Given the description of an element on the screen output the (x, y) to click on. 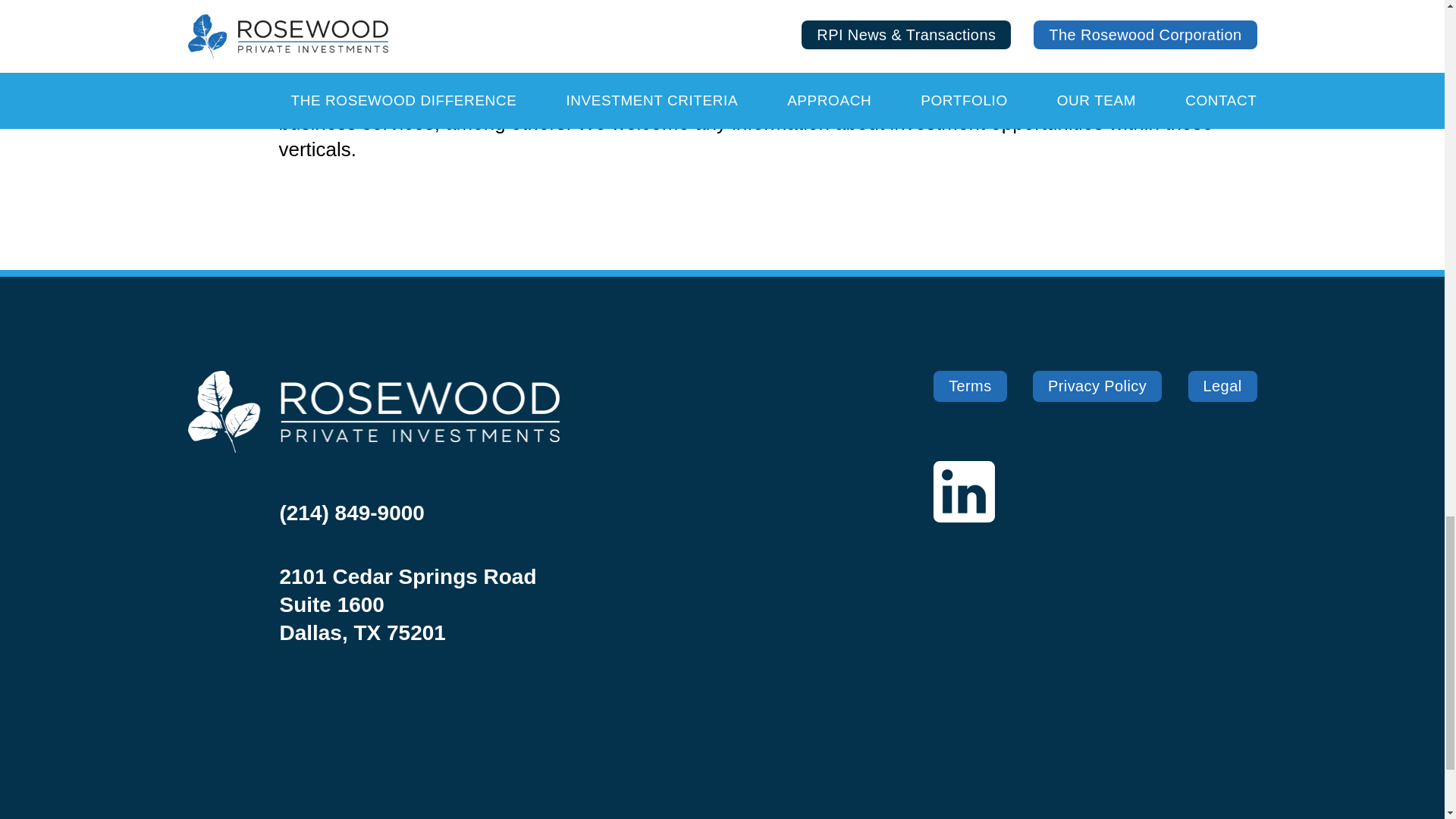
Legal (1222, 386)
Privacy Policy (1096, 386)
Terms (969, 386)
